Given the description of an element on the screen output the (x, y) to click on. 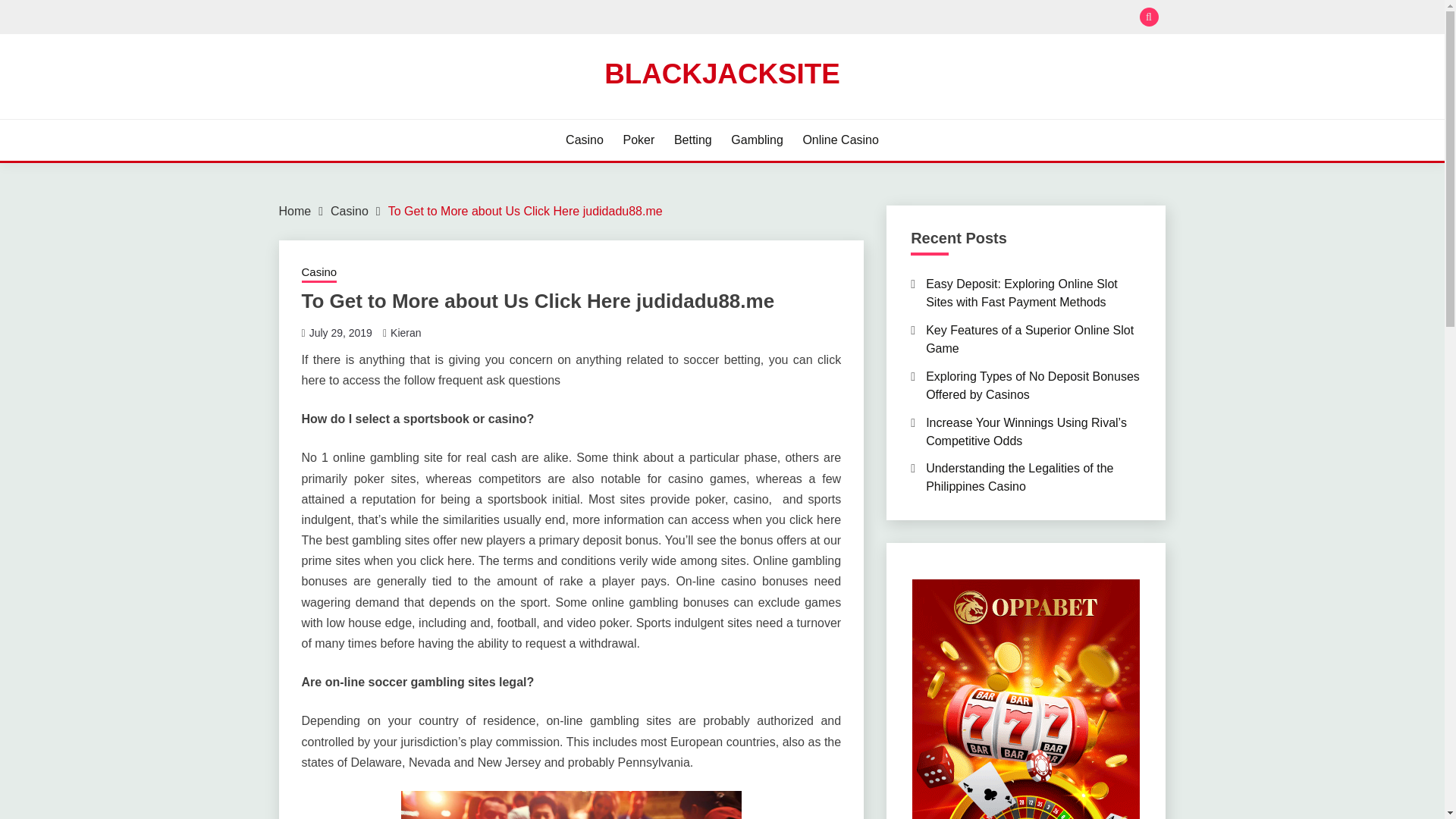
Key Features of a Superior Online Slot Game (1030, 338)
Search (832, 18)
Home (295, 210)
Casino (585, 140)
To Get to More about Us Click Here judidadu88.me (525, 210)
Online Casino (840, 140)
Exploring Types of No Deposit Bonuses Offered by Casinos (1033, 385)
Gambling (756, 140)
Understanding the Legalities of the Philippines Casino (1019, 477)
Casino (319, 273)
